Given the description of an element on the screen output the (x, y) to click on. 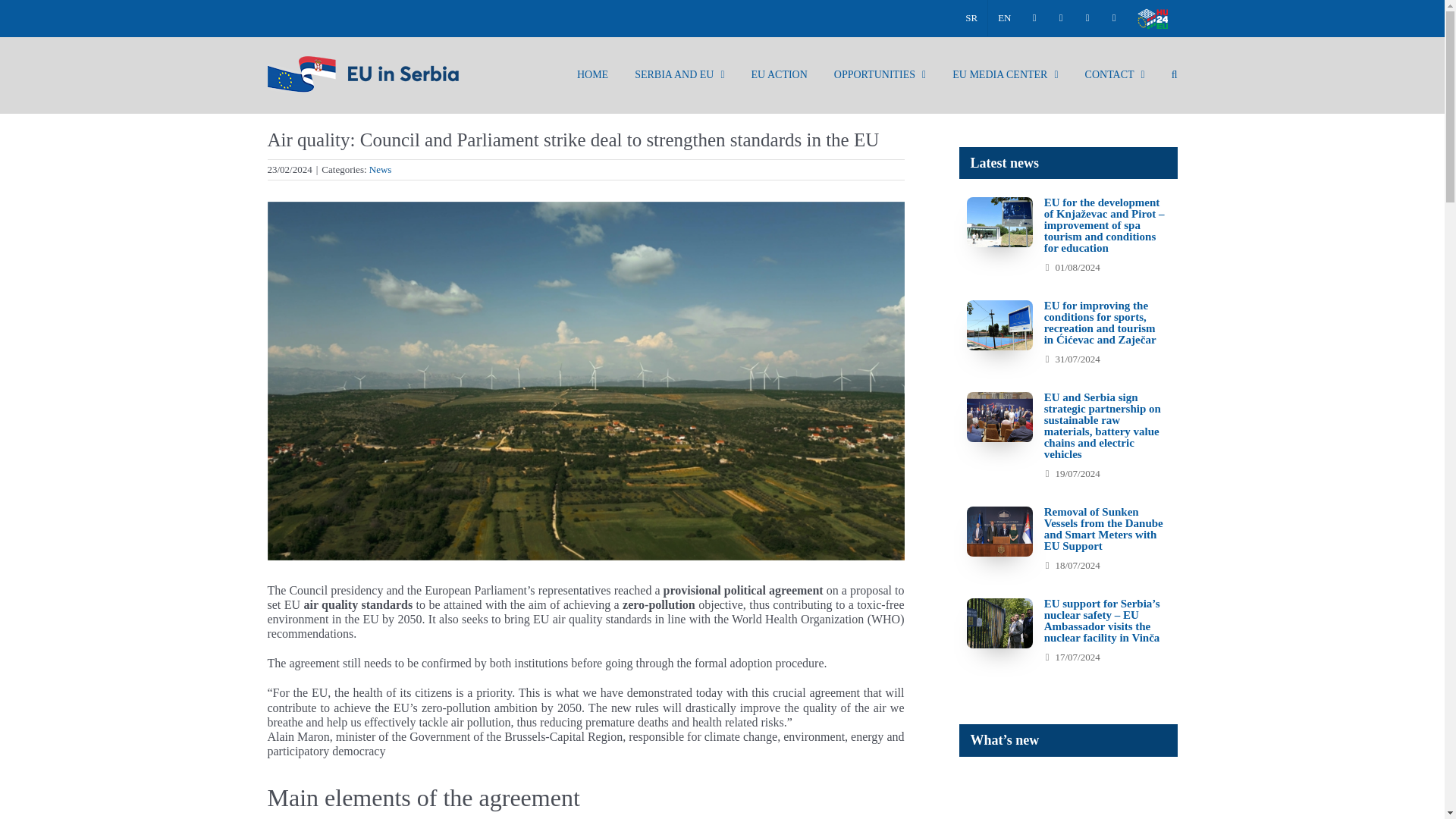
EU MEDIA CENTER (1005, 74)
Hungarian Presidency of the Council of the EU (1151, 18)
SERBIA AND EU (678, 74)
EN (1004, 18)
OPPORTUNITIES (880, 74)
YouTube video player (1170, 796)
EN (1004, 18)
